Given the description of an element on the screen output the (x, y) to click on. 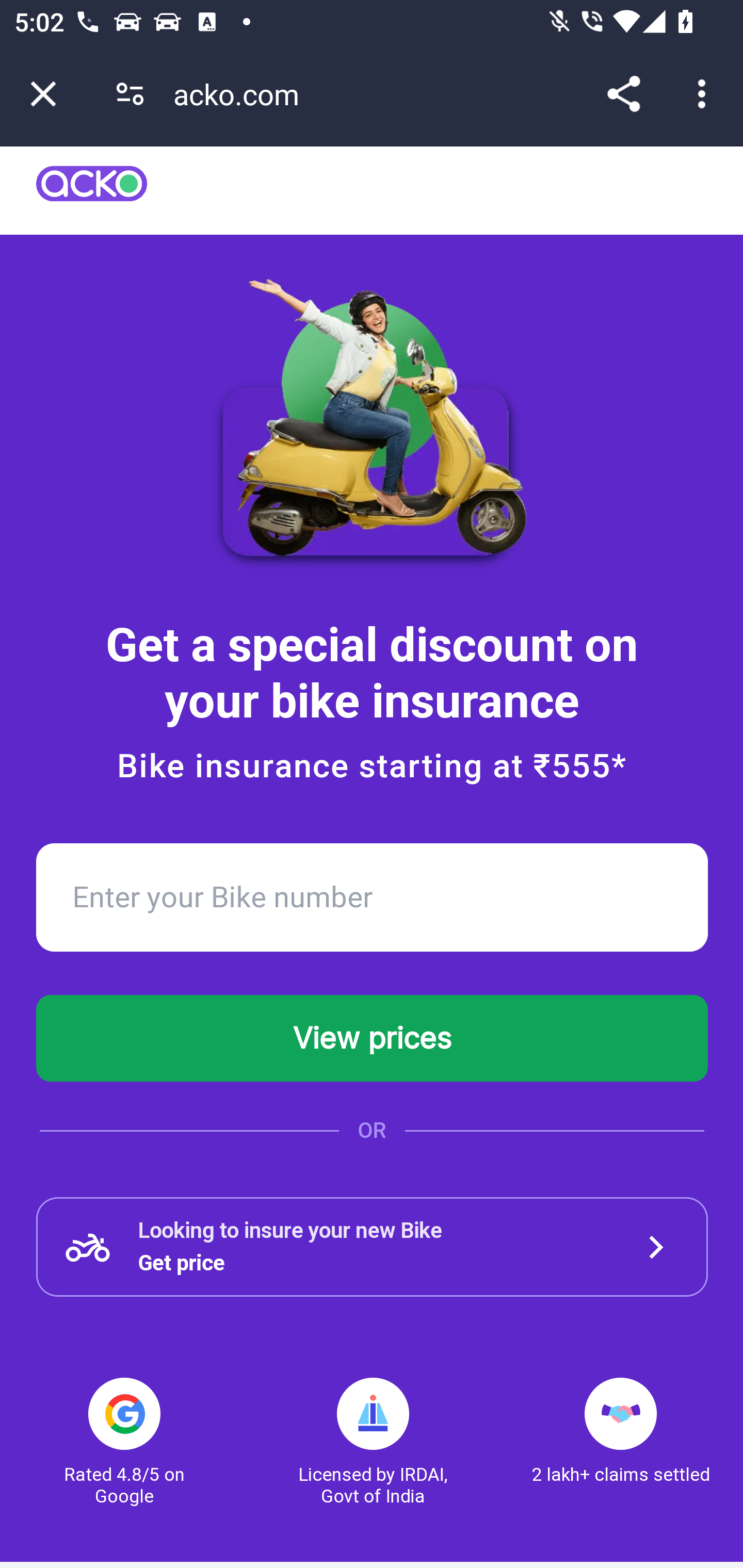
Close tab (43, 93)
Share (623, 93)
Customize and control Google Chrome (705, 93)
Connection is secure (129, 93)
acko.com (243, 93)
url (91, 189)
View prices (372, 1037)
Looking to insure your new Bike Get price (372, 1247)
